Given the description of an element on the screen output the (x, y) to click on. 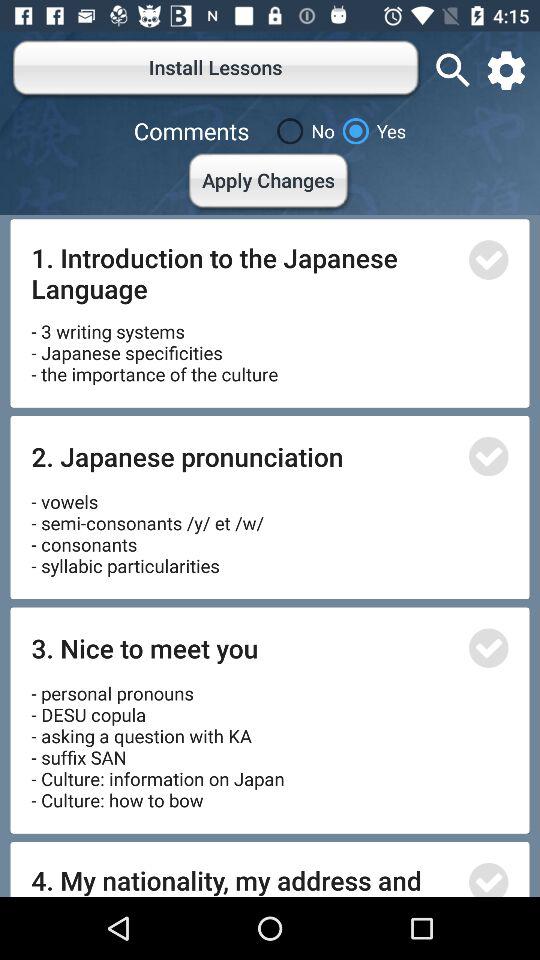
to select the option (488, 879)
